Given the description of an element on the screen output the (x, y) to click on. 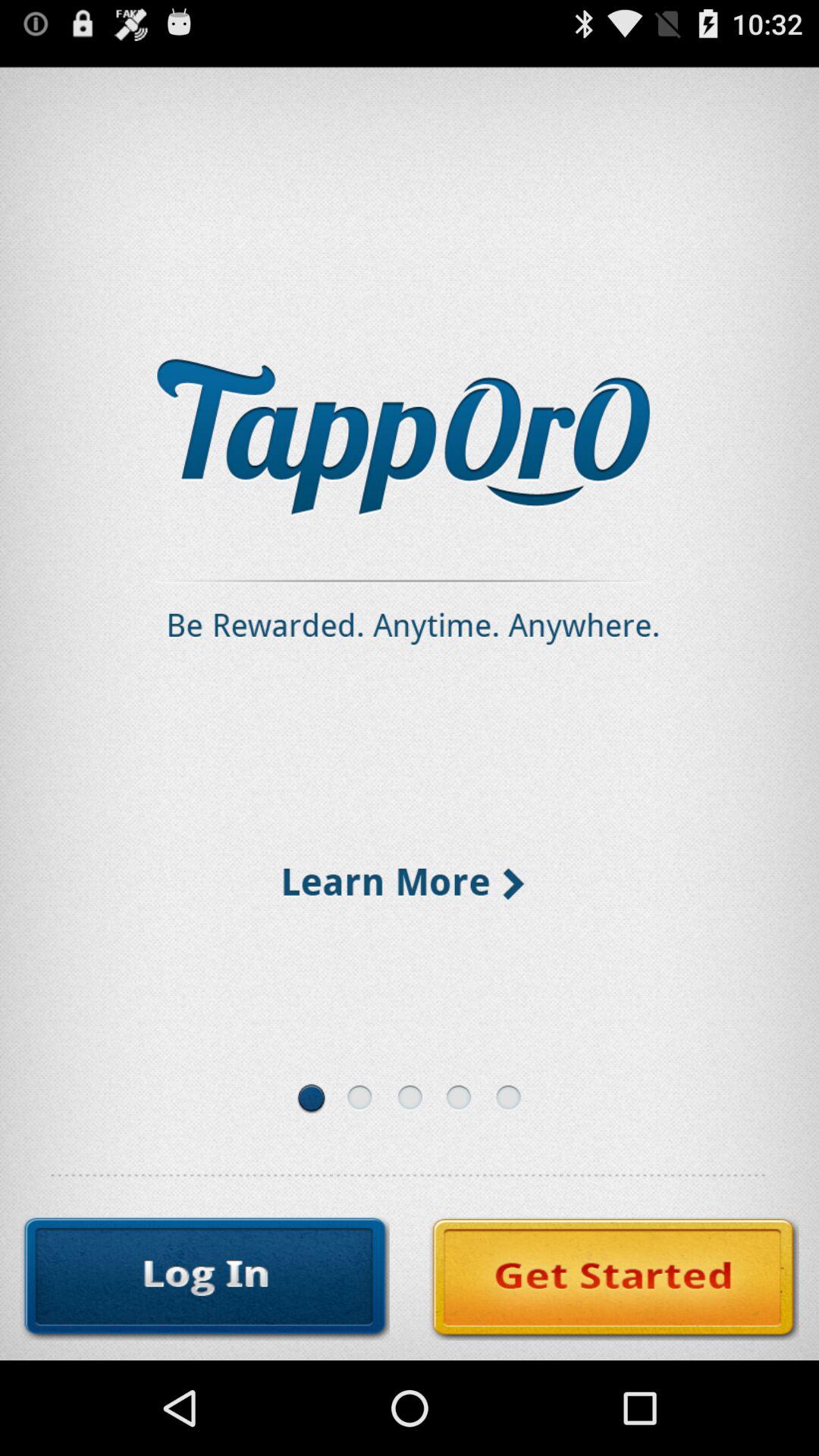
click to make a new account (614, 1278)
